Given the description of an element on the screen output the (x, y) to click on. 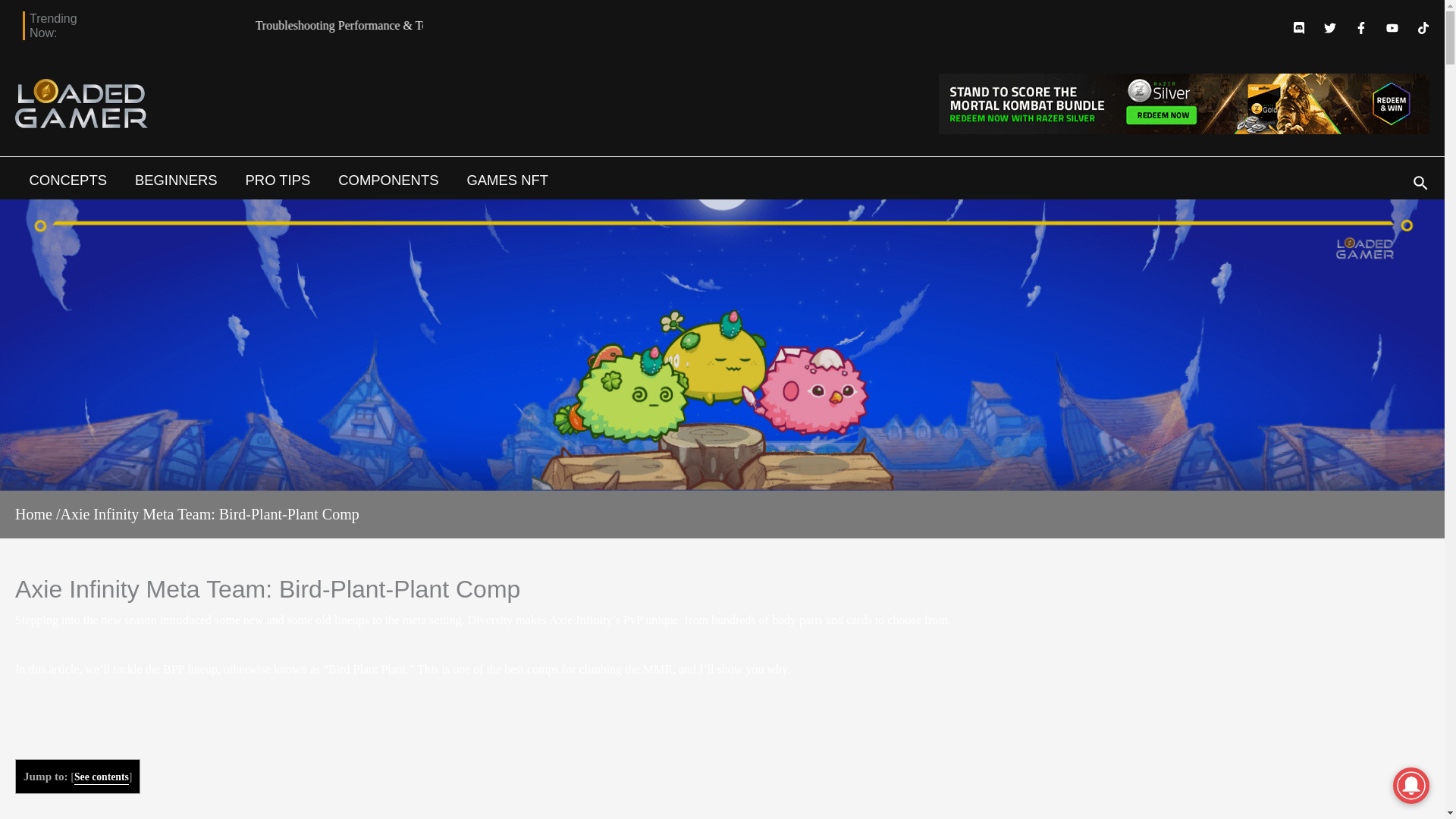
Home (33, 514)
See contents (101, 777)
PRO TIPS (277, 180)
BEGINNERS (175, 180)
GAMES NFT (507, 180)
CONCEPTS (67, 180)
COMPONENTS (388, 180)
